Given the description of an element on the screen output the (x, y) to click on. 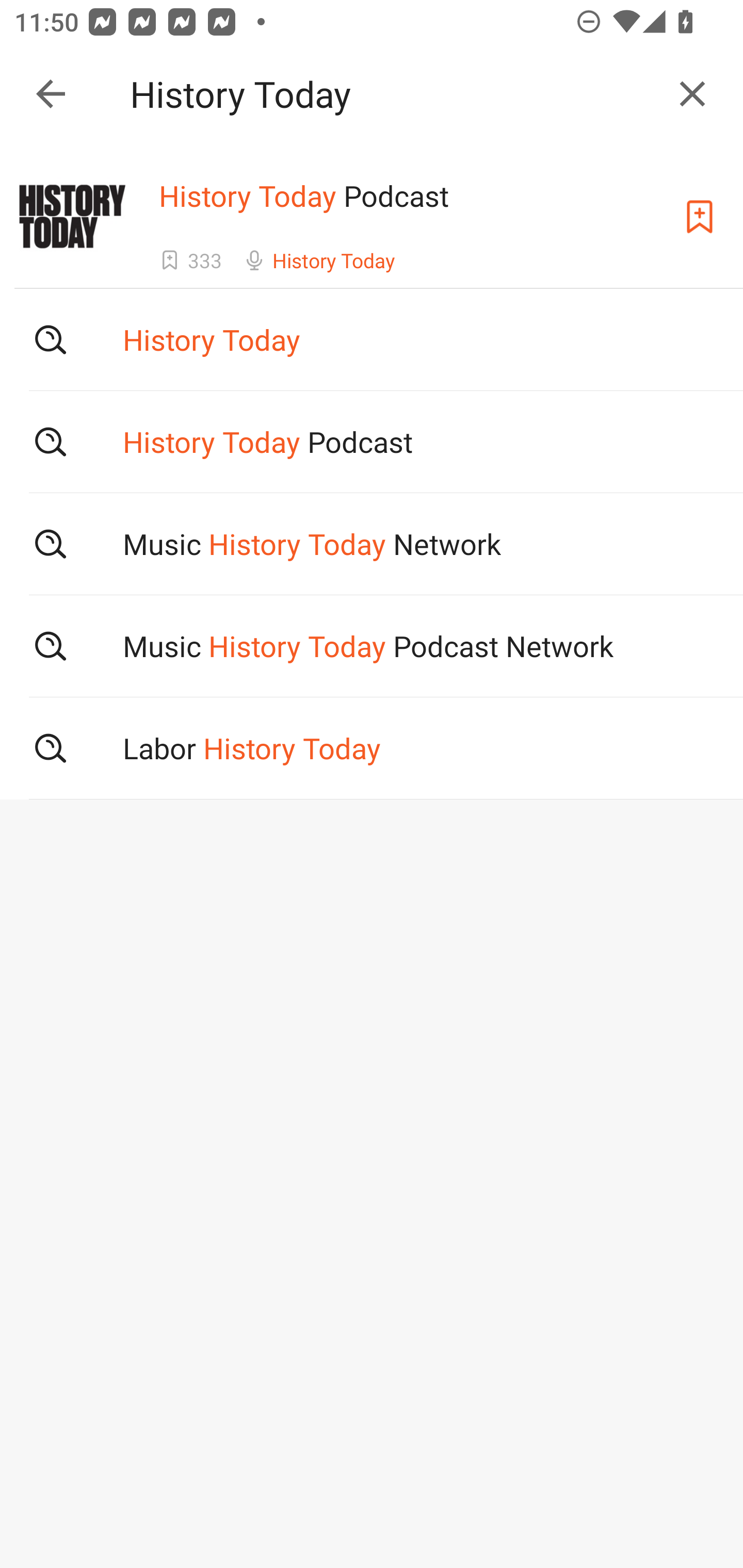
Collapse (50, 93)
Clear query (692, 93)
History Today (393, 94)
Subscribe (699, 216)
 History Today (371, 339)
 History Today Podcast (371, 441)
 Music History Today Network (371, 543)
 Music History Today Podcast Network (371, 645)
 Labor History Today (371, 748)
